Given the description of an element on the screen output the (x, y) to click on. 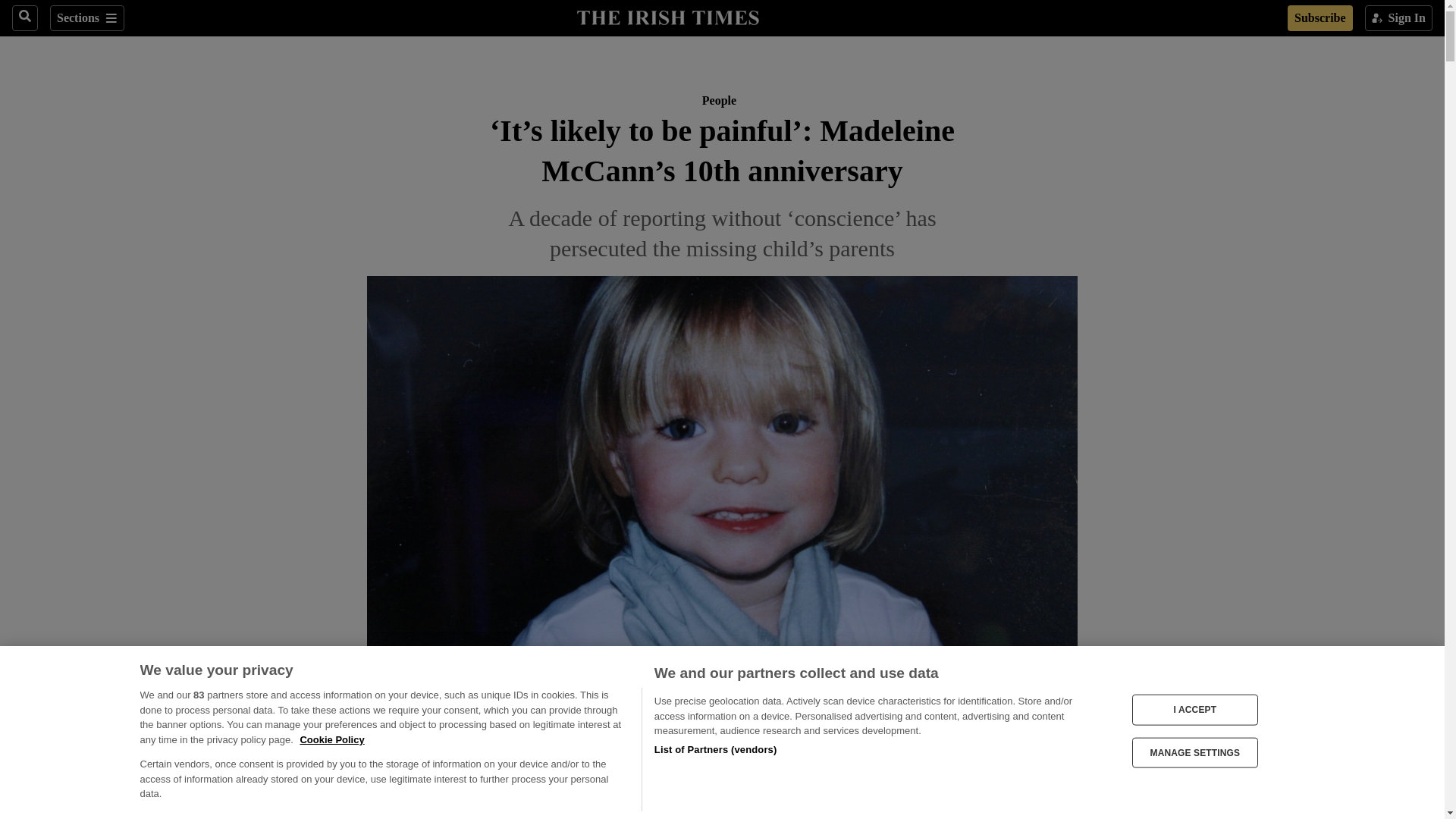
The Irish Times (667, 16)
Sections (86, 17)
Sign In (1398, 17)
Subscribe (1319, 17)
